Given the description of an element on the screen output the (x, y) to click on. 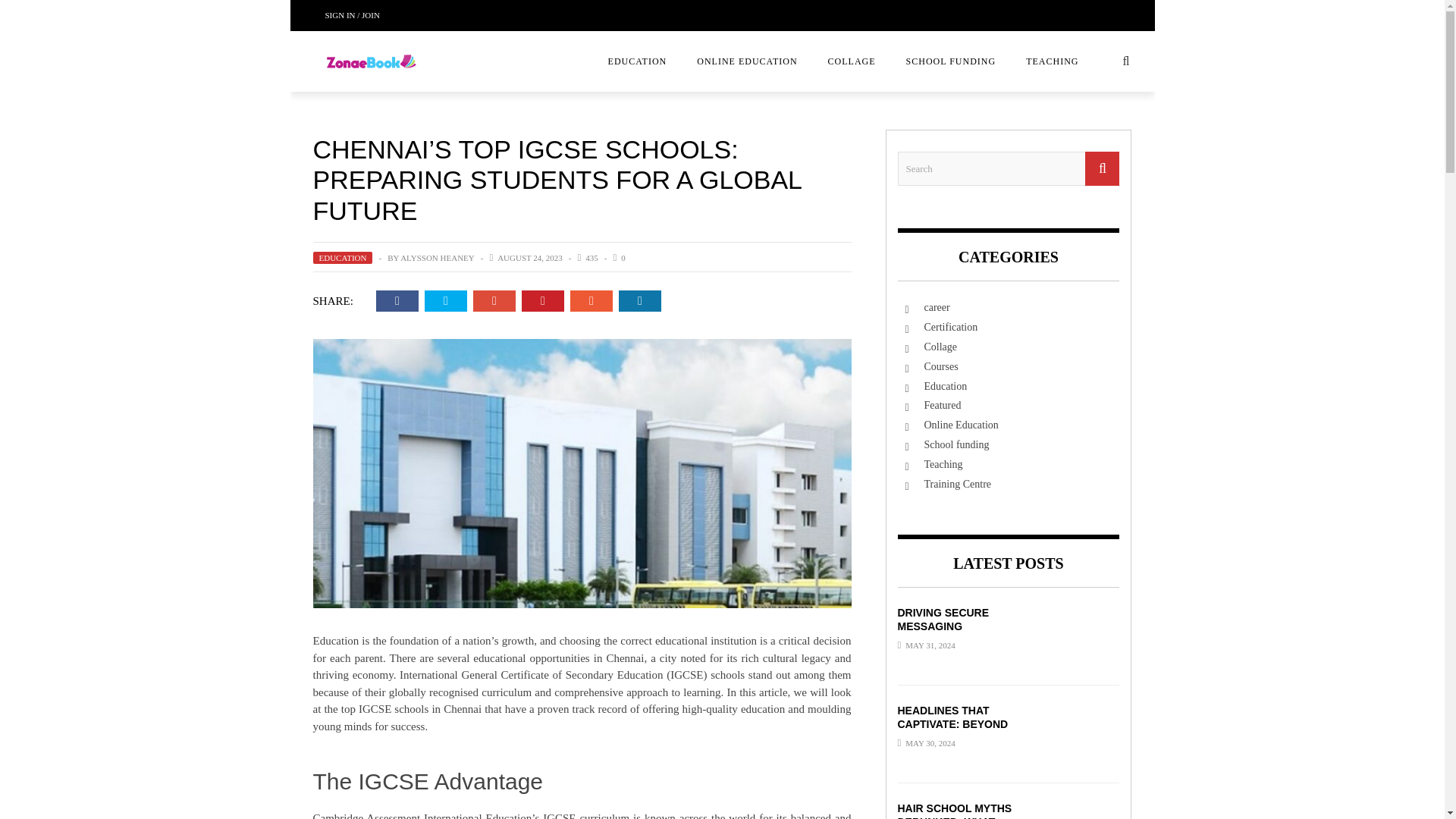
EDUCATION (342, 257)
Search (1008, 168)
ONLINE EDUCATION (746, 61)
COLLAGE (851, 61)
TEACHING (1051, 61)
ALYSSON HEANEY (437, 257)
SCHOOL FUNDING (951, 61)
EDUCATION (637, 61)
